Given the description of an element on the screen output the (x, y) to click on. 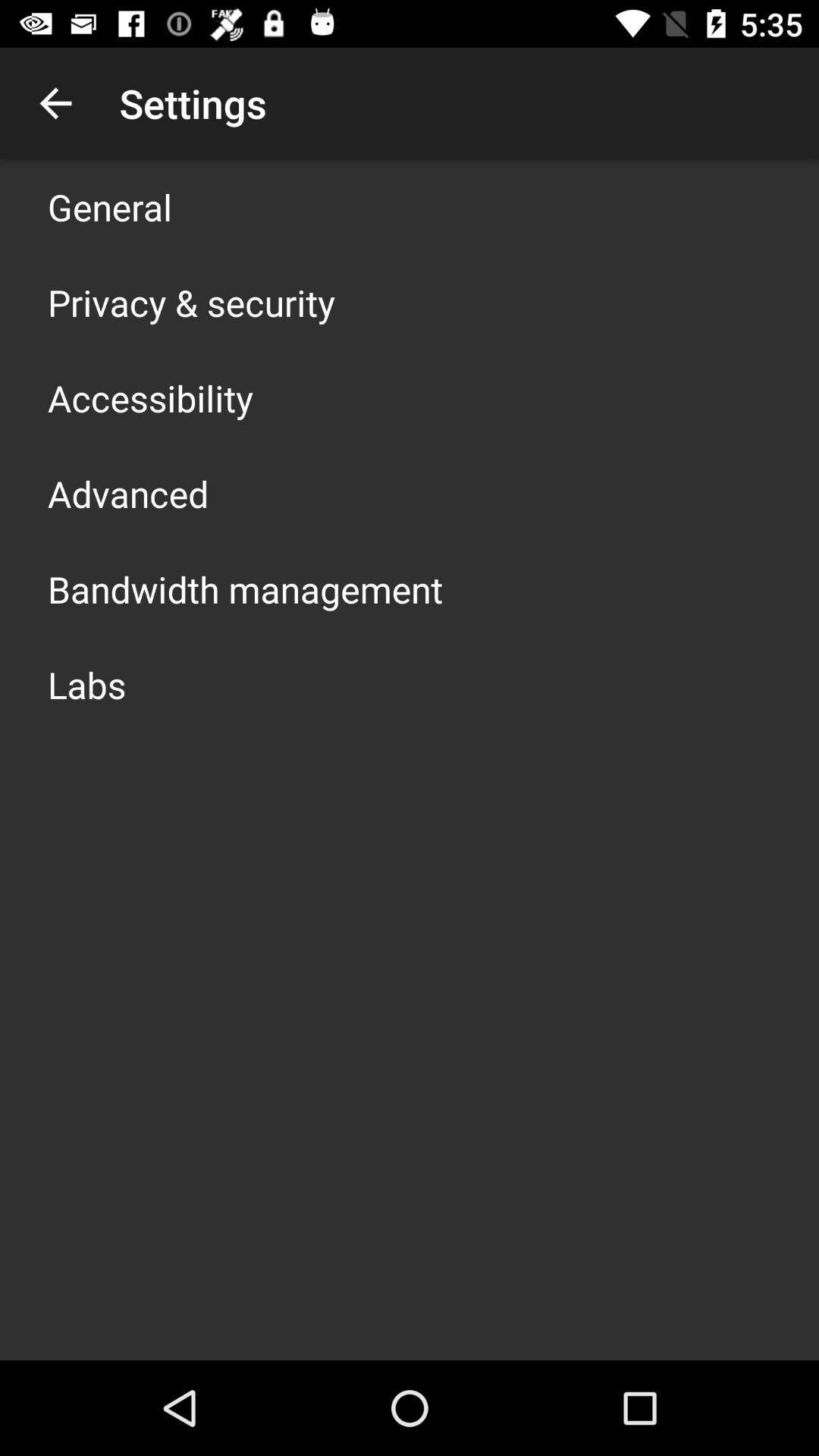
open app below bandwidth management icon (86, 684)
